Given the description of an element on the screen output the (x, y) to click on. 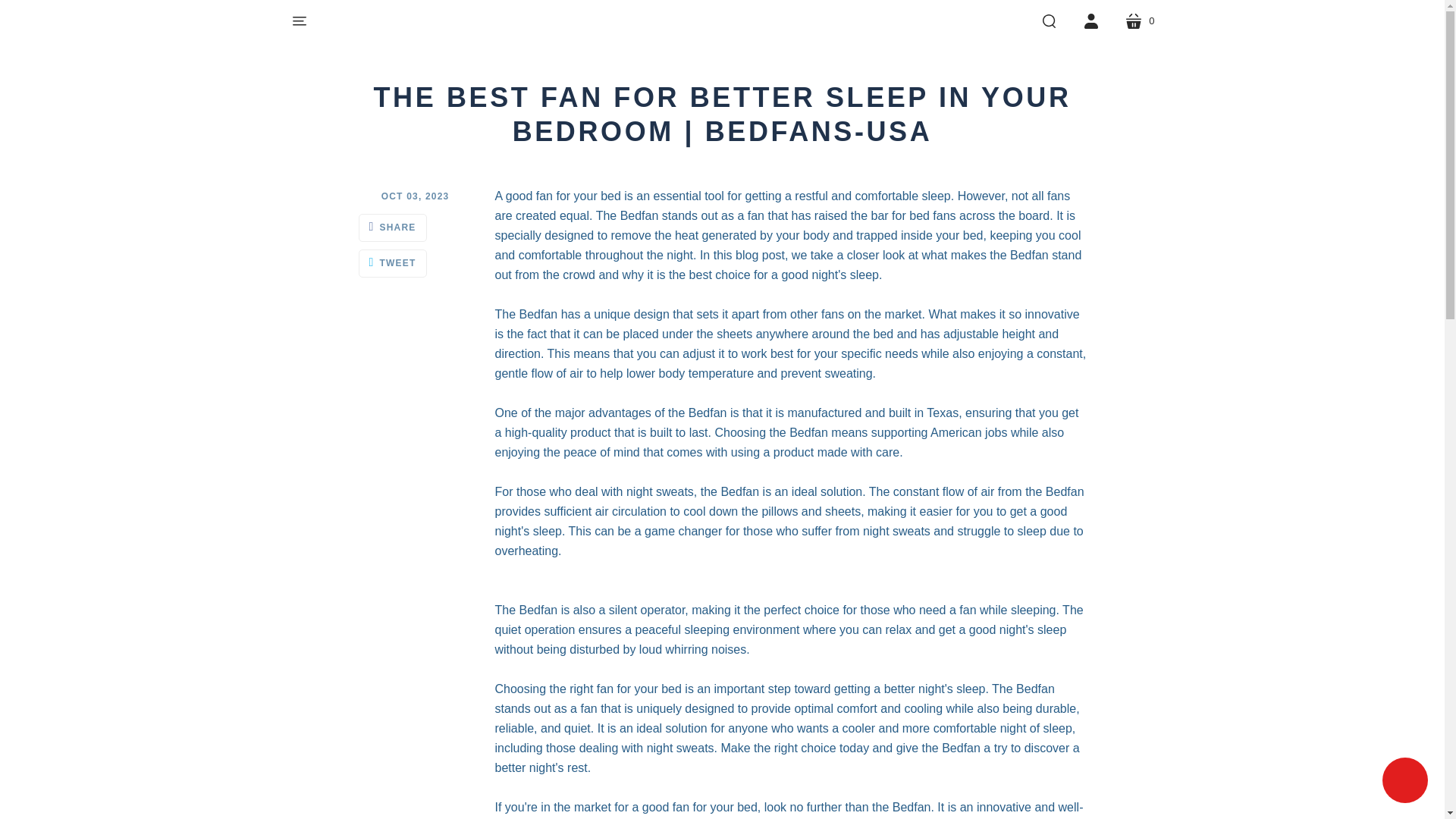
Shopify online store chat (1404, 781)
TWEET (392, 262)
account (1091, 21)
search (1048, 21)
menu (299, 21)
SHARE (1139, 21)
